Given the description of an element on the screen output the (x, y) to click on. 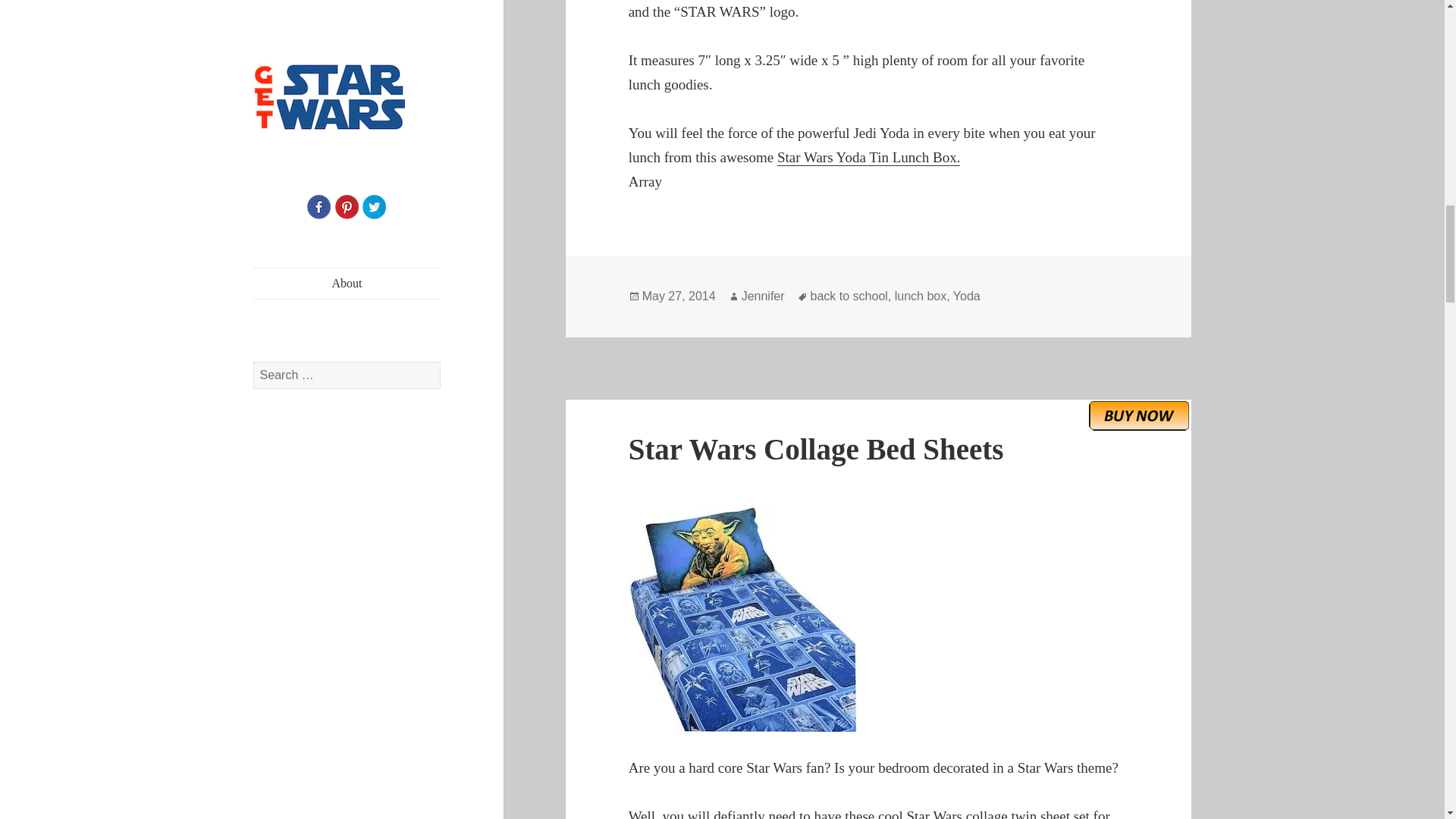
Star Wars Collage Bed Sheets (816, 449)
Star Wars Yoda Tin Lunch Box. (868, 157)
lunch box (921, 296)
Yoda (966, 296)
back to school (849, 296)
Jennifer (762, 296)
May 27, 2014 (679, 296)
Star Wars kids bed sheets (878, 618)
metal  Star Wars lunch box (868, 157)
buy Star Wars Collage Bed Sheets (1139, 415)
